Given the description of an element on the screen output the (x, y) to click on. 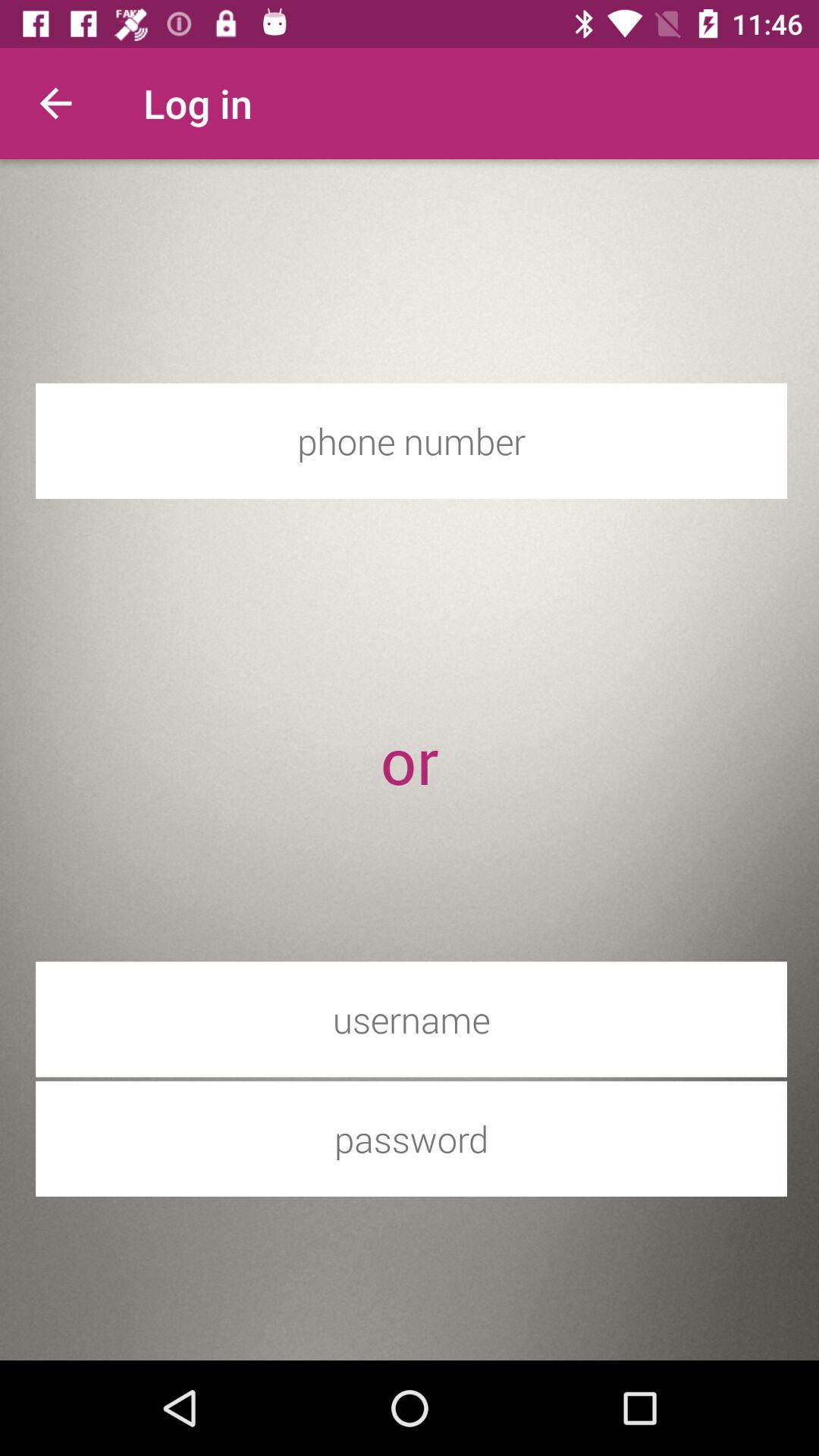
input enter phone number (411, 440)
